Given the description of an element on the screen output the (x, y) to click on. 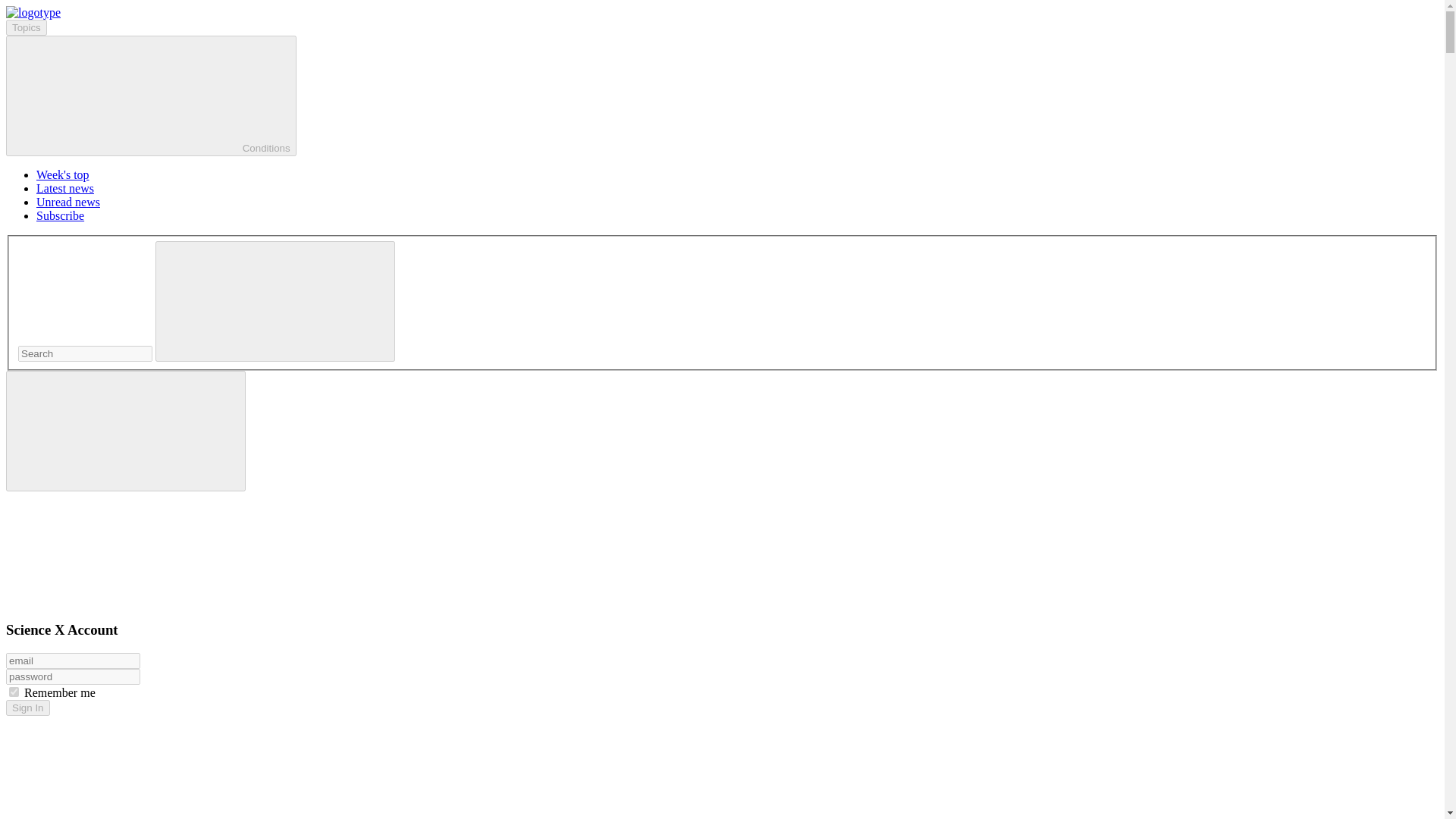
Latest news (65, 187)
Week's top (62, 174)
Unread news (68, 201)
Sign In (27, 707)
on (13, 691)
Conditions (151, 96)
Topics (25, 27)
Subscribe (60, 215)
